Given the description of an element on the screen output the (x, y) to click on. 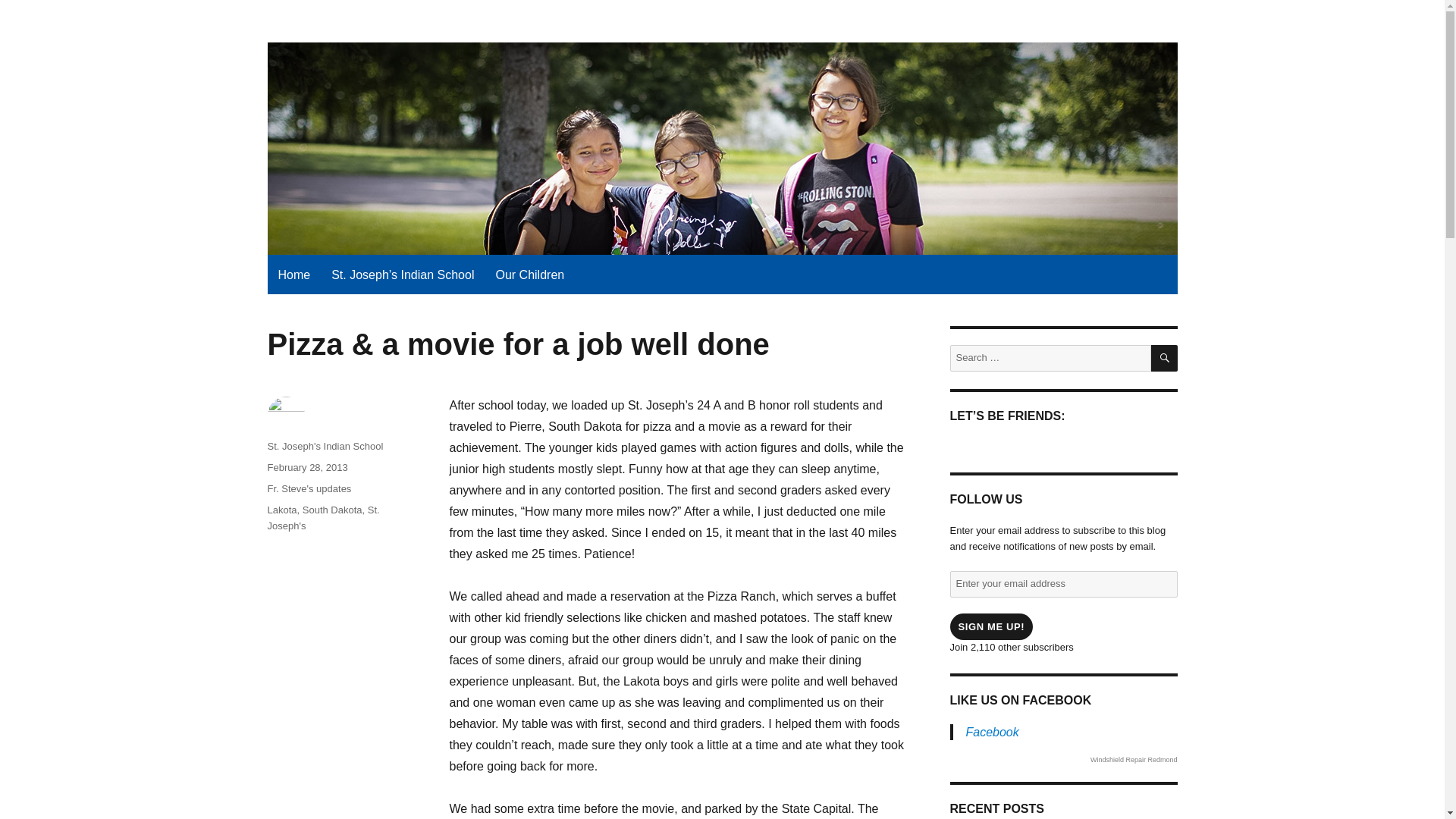
St. Joseph's Indian School (324, 446)
St. Joseph's Indian School (400, 33)
Redmond Novus (1133, 759)
SIGN ME UP! (990, 626)
Fr. Steve's updates (308, 488)
February 28, 2013 (306, 467)
Facebook (992, 731)
Windshield Repair Redmond (1133, 759)
SEARCH (1164, 357)
Our Children (529, 274)
